Given the description of an element on the screen output the (x, y) to click on. 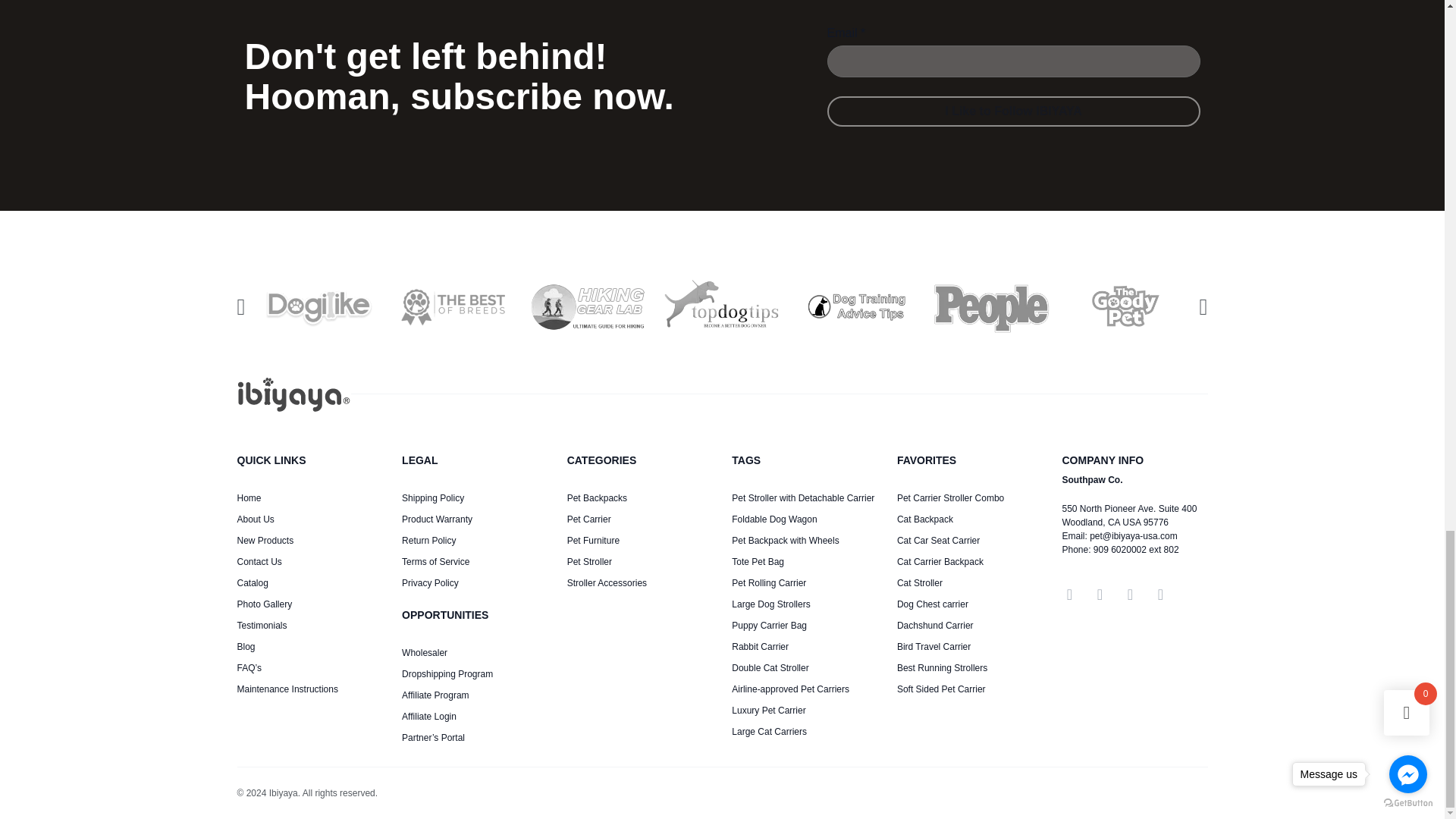
I Like to Follow IBIYAYA (1013, 111)
